Given the description of an element on the screen output the (x, y) to click on. 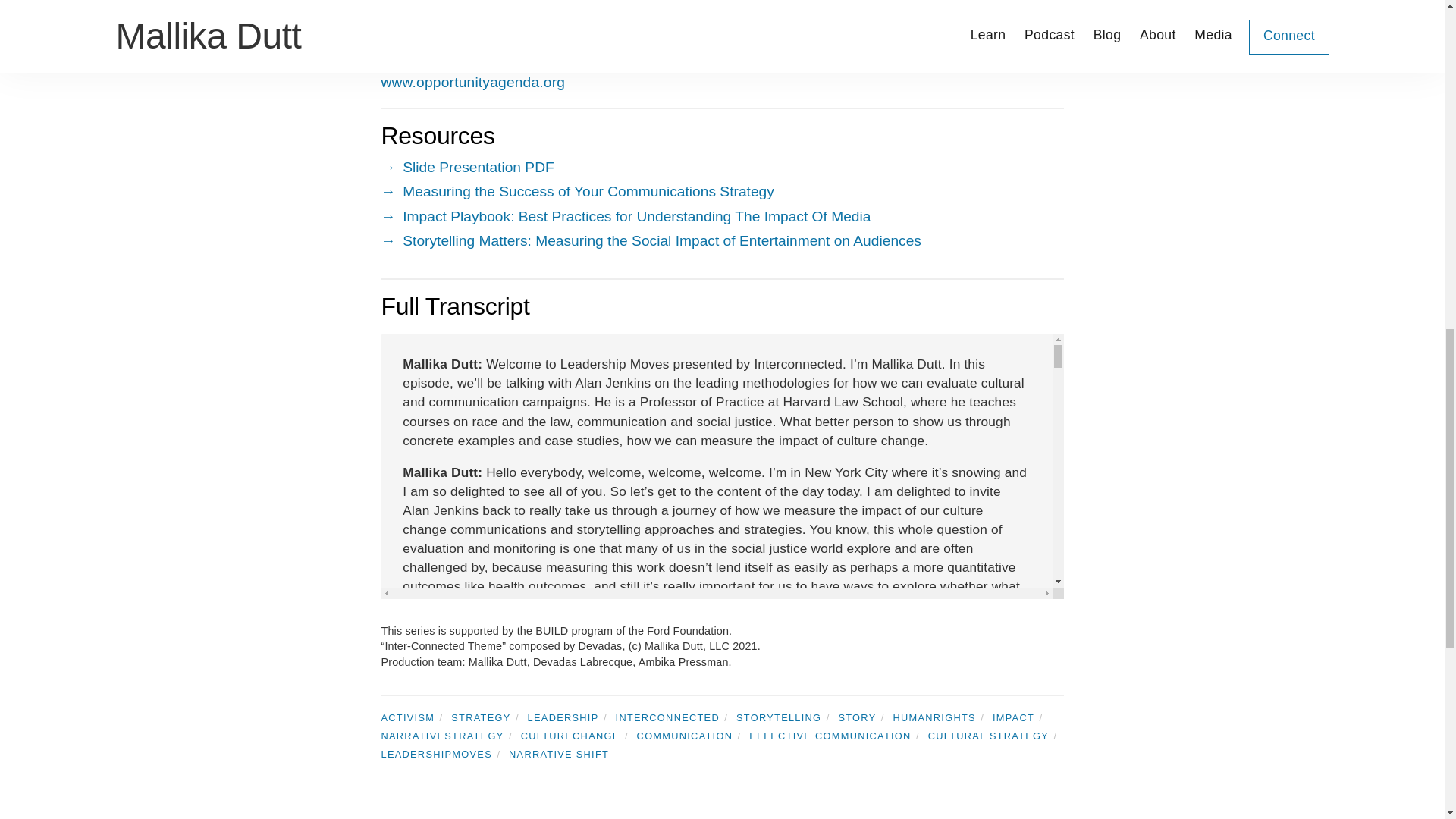
Measuring the Success of Your Communications Strategy (721, 191)
COMMUNICATION (691, 735)
STORYTELLING (785, 717)
www.opportunityagenda.org (472, 82)
HUMANRIGHTS (941, 717)
INTERCONNECTED (674, 717)
LEADERSHIP (569, 717)
LEADERSHIPMOVES (442, 753)
NARRATIVE SHIFT (563, 753)
previous episode (418, 815)
hls.harvard.edu (431, 46)
EFFECTIVE COMMUNICATION (836, 735)
IMPACT (1020, 717)
ACTIVISM (413, 717)
